Given the description of an element on the screen output the (x, y) to click on. 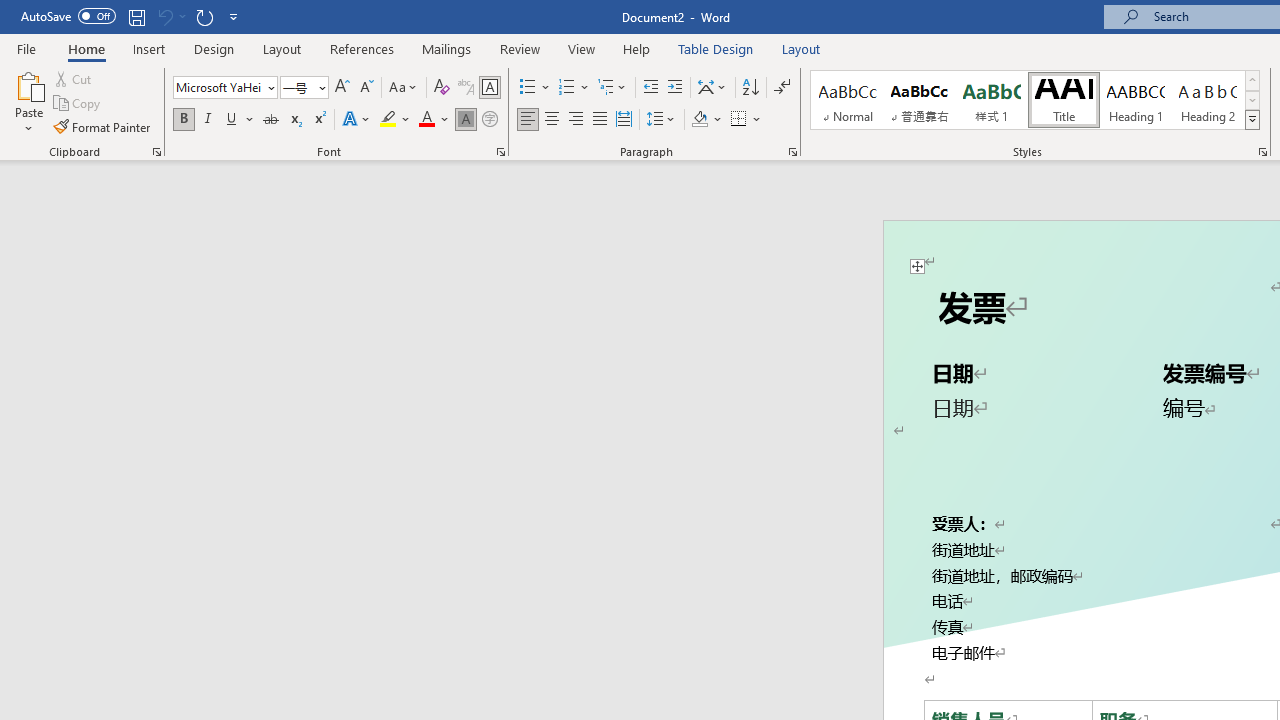
Numbering (566, 87)
Font (224, 87)
Center (552, 119)
Paragraph... (792, 151)
Shading (706, 119)
Paste (28, 102)
Line and Paragraph Spacing (661, 119)
Row Down (1252, 100)
Cut (73, 78)
Character Border (489, 87)
Can't Undo (164, 15)
Strikethrough (270, 119)
Review (520, 48)
Font... (500, 151)
Bullets (527, 87)
